Given the description of an element on the screen output the (x, y) to click on. 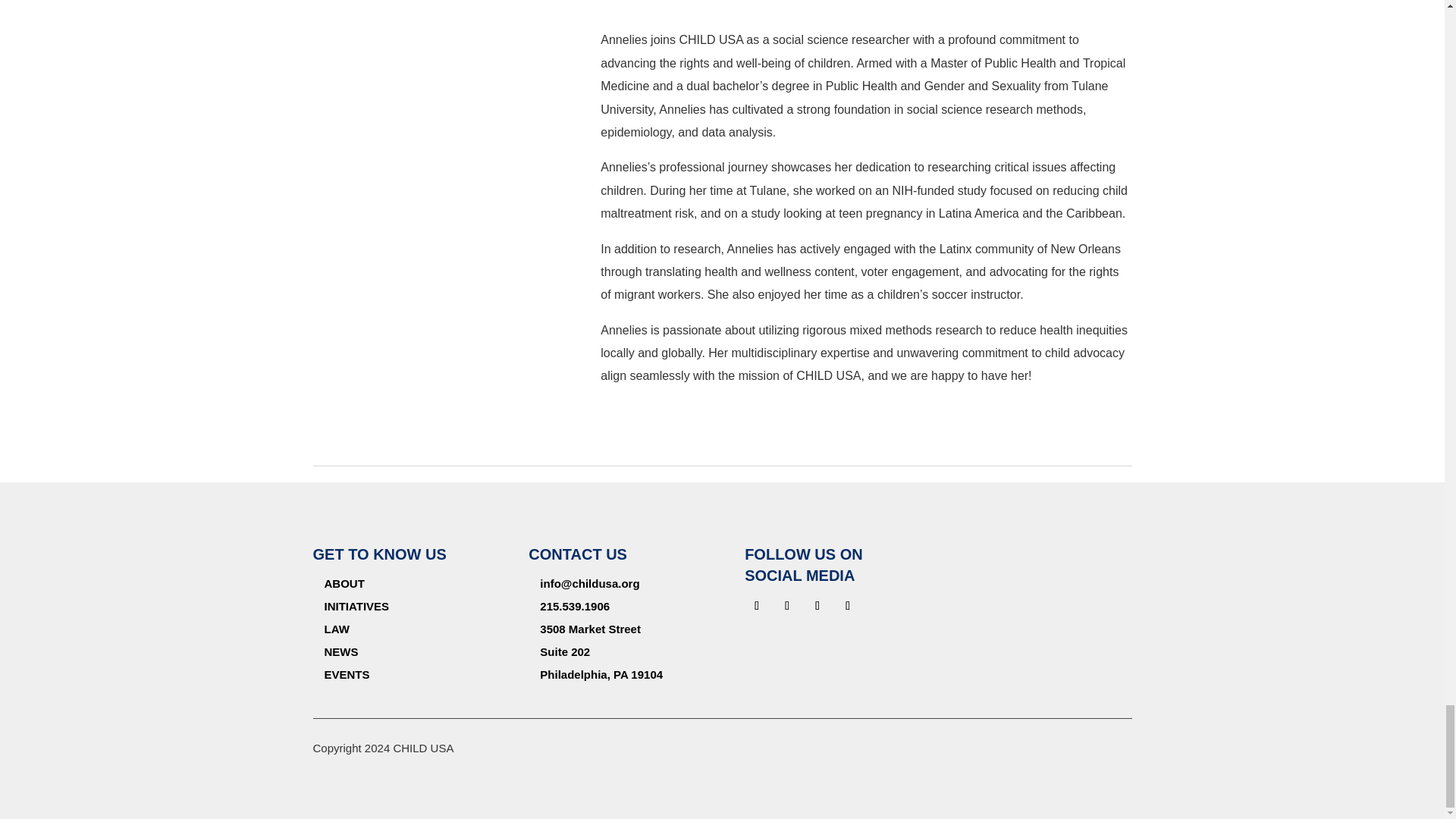
headshot (433, 86)
Follow on Facebook (847, 605)
Follow on Instagram (817, 605)
Follow on LinkedIn (786, 605)
Follow on X (756, 605)
